Given the description of an element on the screen output the (x, y) to click on. 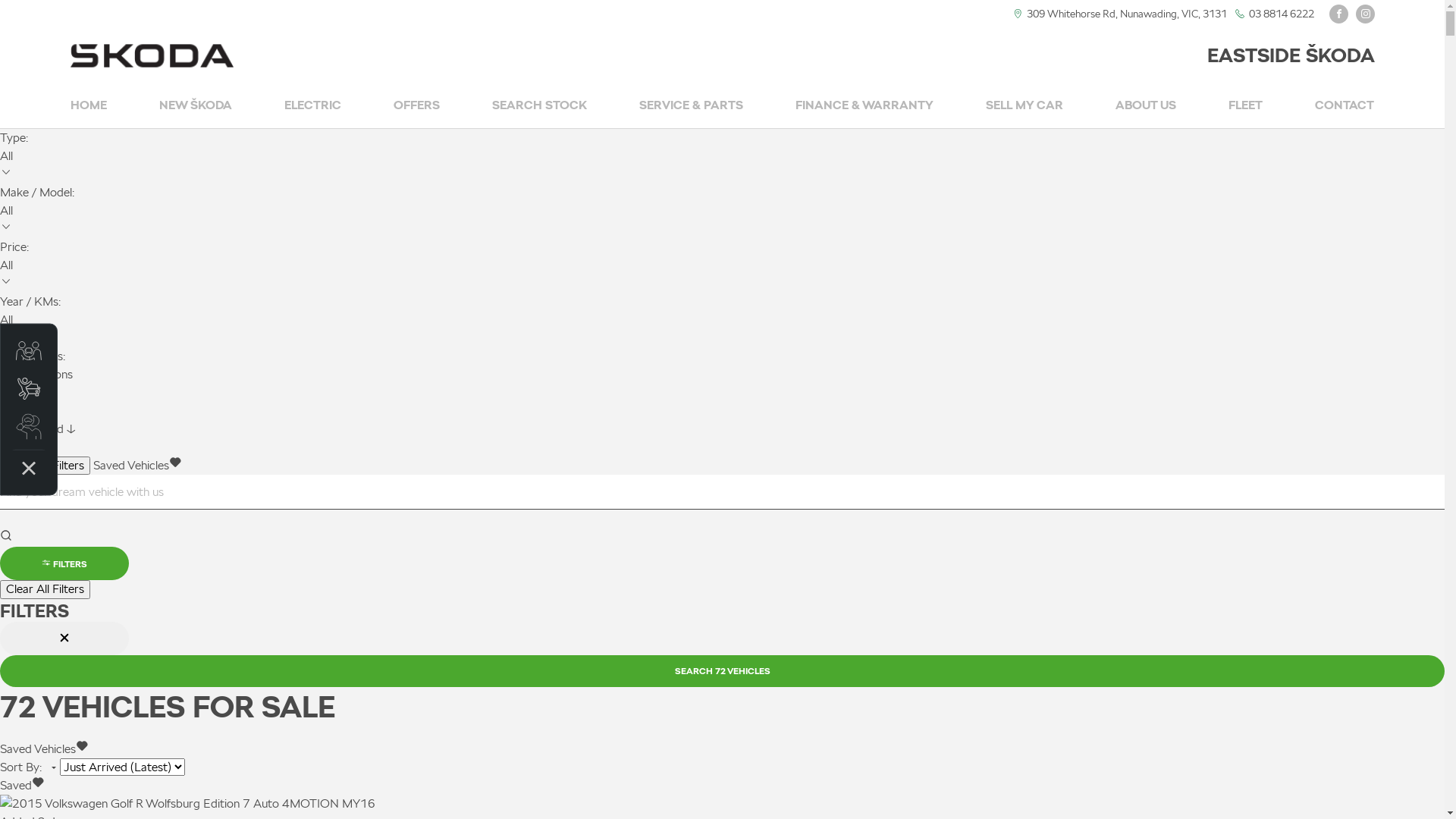
Saved Vehicles Element type: text (137, 465)
SELL MY CAR Element type: text (1024, 106)
SEARCH STOCK Element type: text (539, 106)
Clear All Filters Element type: text (45, 589)
2015 Volkswagen Golf R Wolfsburg Edition 7 Auto 4MOTION MY16 Element type: hover (187, 803)
FINANCE & WARRANTY Element type: text (864, 106)
Saved Vehicles Element type: text (43, 748)
HOME Element type: text (87, 106)
03 8814 6222 Element type: text (1280, 13)
Saved Element type: text (21, 785)
CONTACT Element type: text (1344, 106)
OFFERS Element type: text (416, 106)
309 Whitehorse Rd, Nunawading, VIC, 3131 Element type: text (1126, 13)
ELECTRIC Element type: text (312, 106)
FILTERS Element type: text (64, 563)
Clear All Filters Element type: text (45, 465)
ABOUT US Element type: text (1145, 106)
FLEET Element type: text (1245, 106)
SERVICE & PARTS Element type: text (691, 106)
